Given the description of an element on the screen output the (x, y) to click on. 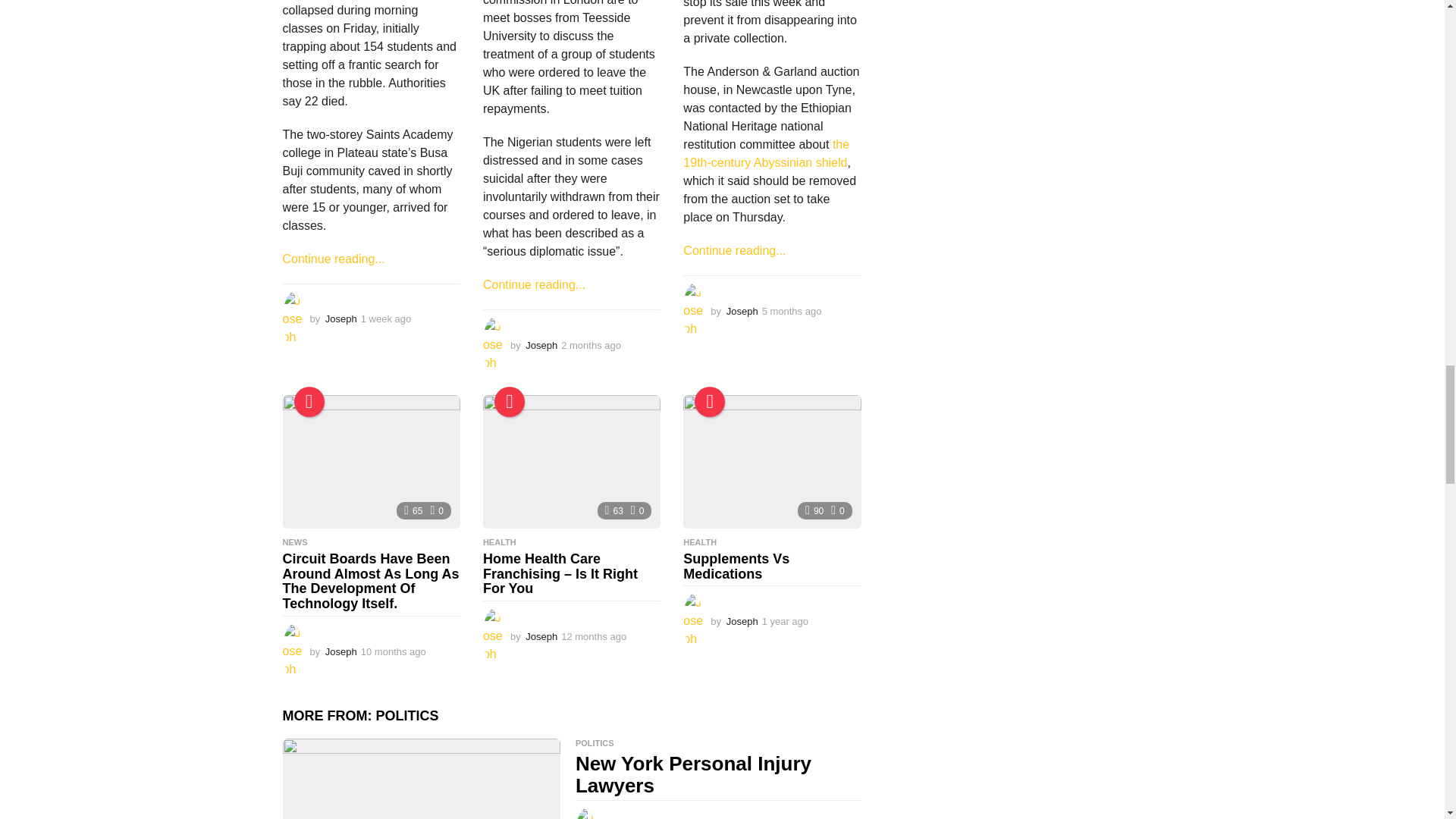
Popular (709, 401)
Popular (309, 401)
Popular (509, 401)
